Given the description of an element on the screen output the (x, y) to click on. 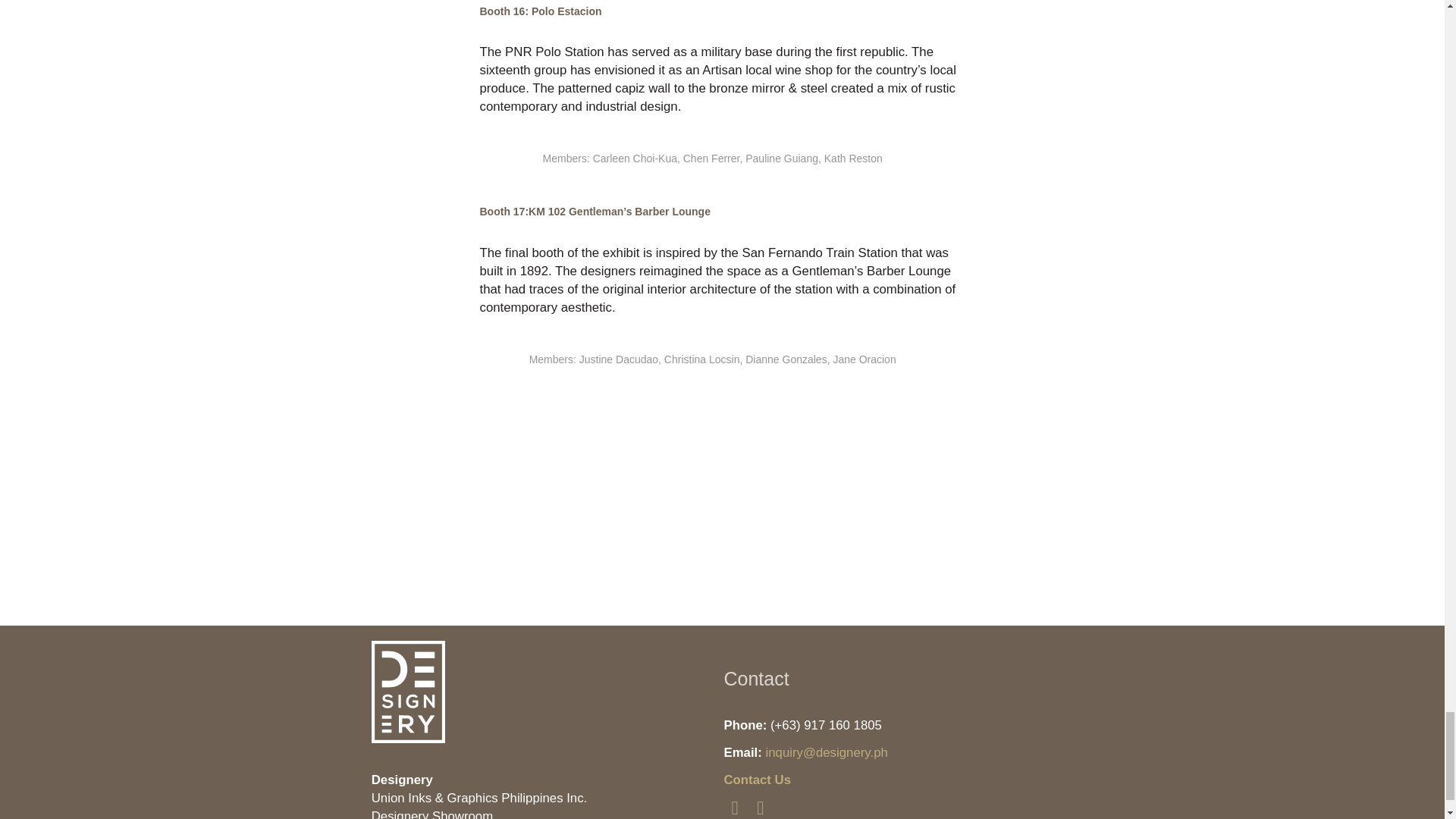
Contact Us (756, 780)
